Given the description of an element on the screen output the (x, y) to click on. 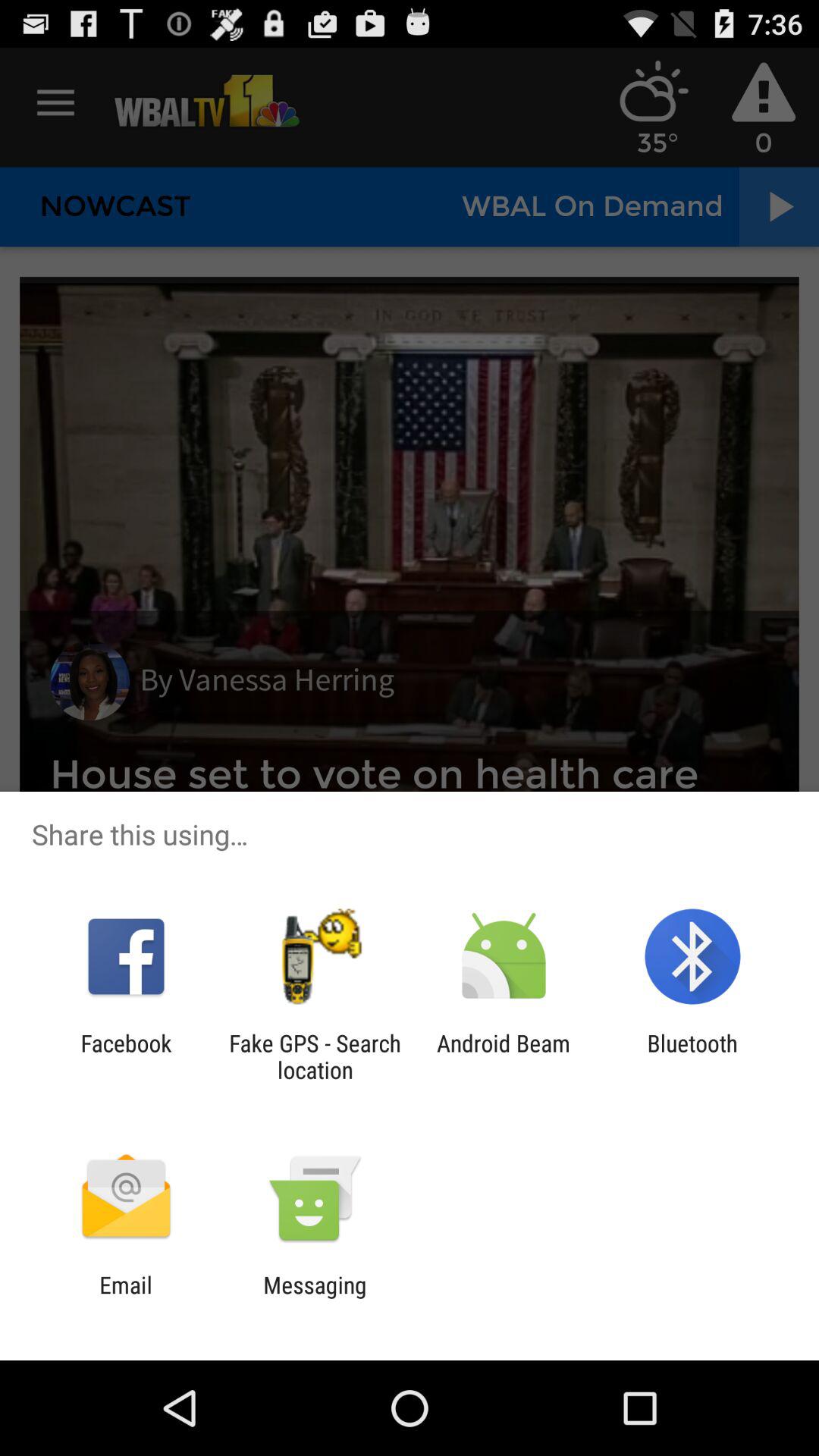
turn off icon next to the email app (314, 1298)
